Given the description of an element on the screen output the (x, y) to click on. 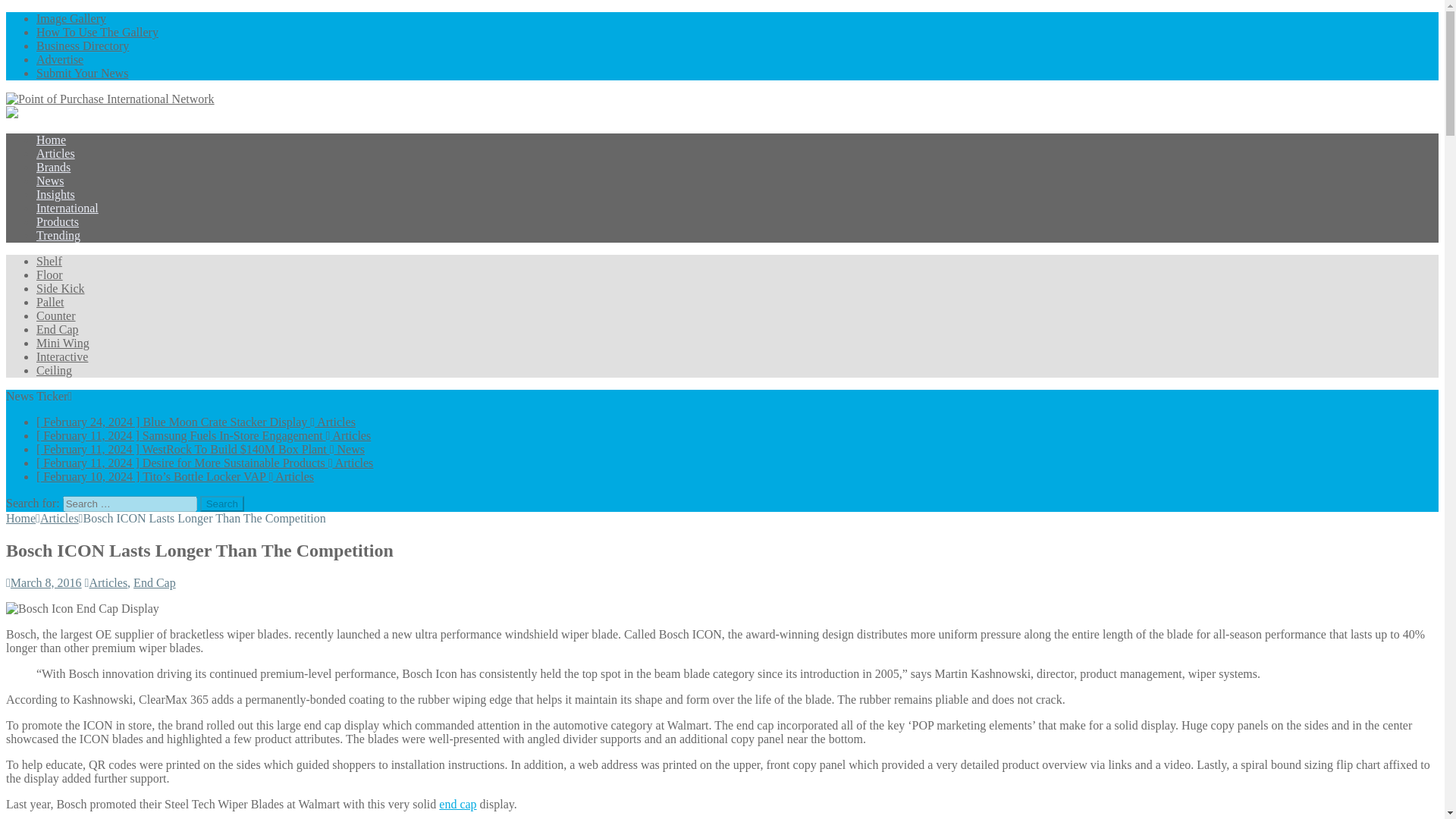
Search (222, 503)
Search (222, 503)
Articles (59, 517)
End Cap (57, 328)
Blue Moon Crate Stacker Display (195, 421)
Counter (55, 315)
Desire for More Sustainable Products (204, 462)
Mini Wing (62, 342)
March 8, 2016 (45, 582)
Search (222, 503)
Home (50, 139)
Advertise (59, 59)
International (67, 207)
Ceiling (53, 369)
End Cap (154, 582)
